Given the description of an element on the screen output the (x, y) to click on. 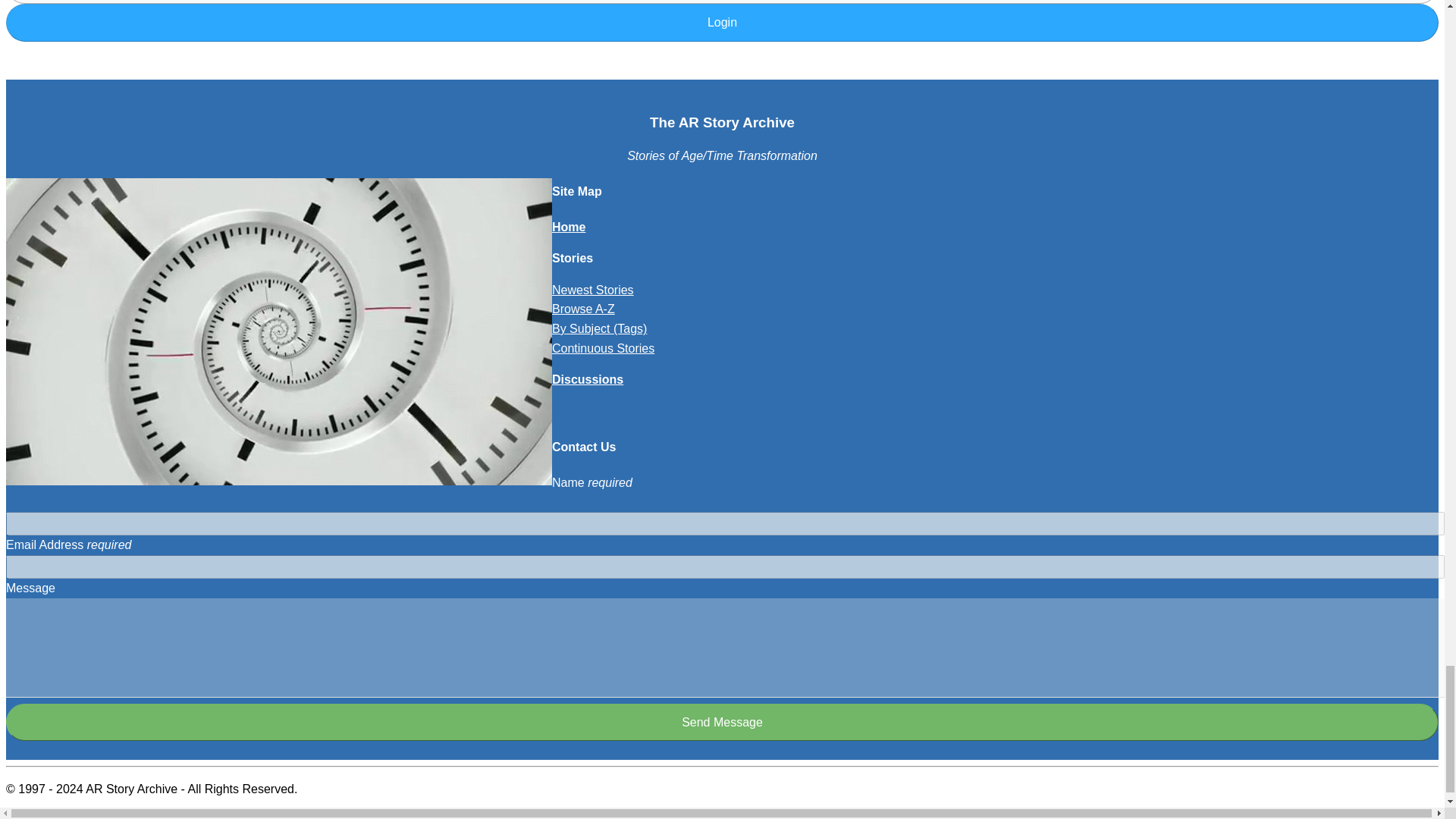
Send Message (721, 722)
Send Message (721, 722)
Newest Stories (592, 289)
Login (721, 22)
Continuous Stories (602, 348)
Home (568, 226)
Discussions (587, 379)
Browse A-Z (582, 308)
